Given the description of an element on the screen output the (x, y) to click on. 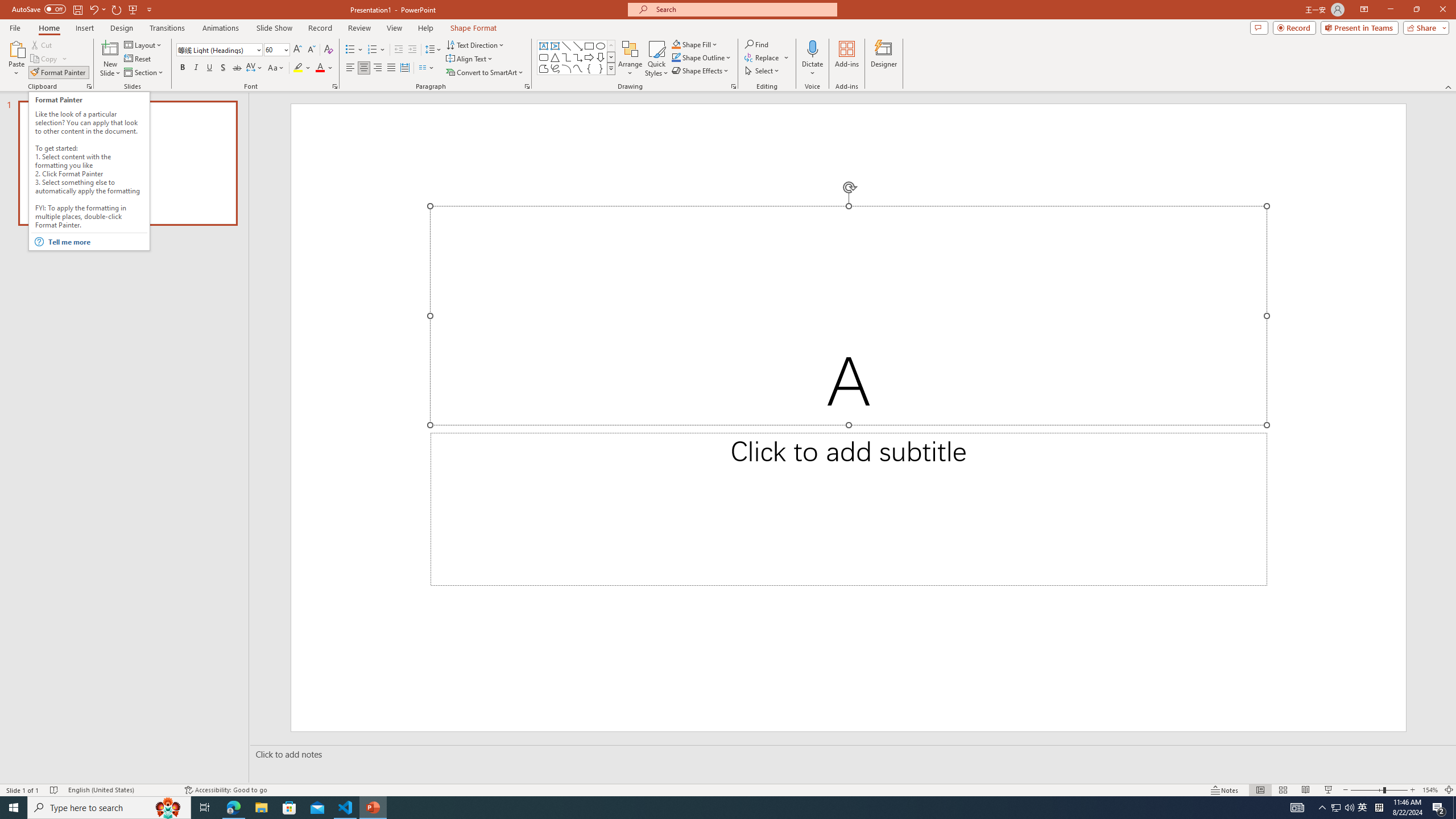
Present in Teams (1359, 27)
Accessibility Checker Accessibility: Good to go (226, 790)
Underline (209, 67)
Font Size (276, 49)
System (6, 6)
Font Color (324, 67)
Paragraph... (526, 85)
Left Brace (589, 68)
Center (363, 67)
Transitions (167, 28)
Line Spacing (433, 49)
Font (219, 49)
Tell me more (96, 241)
